Given the description of an element on the screen output the (x, y) to click on. 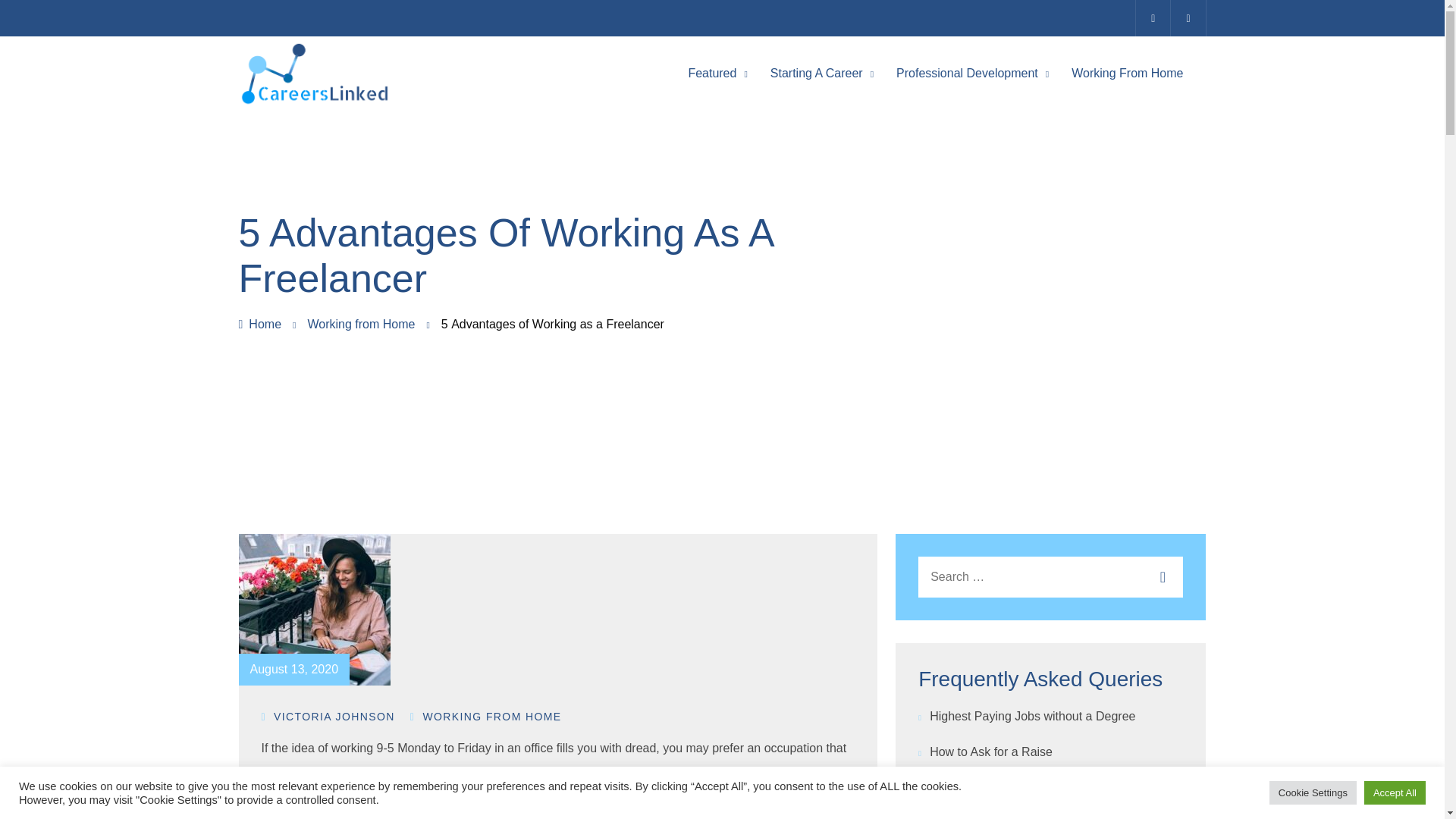
WORKING FROM HOME (486, 716)
starting your own business (631, 771)
Working from Home (360, 323)
August 13, 2020 (294, 668)
Starting A Career (816, 72)
Home (259, 323)
Professional Development (967, 72)
Featured (711, 72)
5 Reasons to Start Your Own Business ASAP (631, 771)
Working From Home (1126, 72)
